Given the description of an element on the screen output the (x, y) to click on. 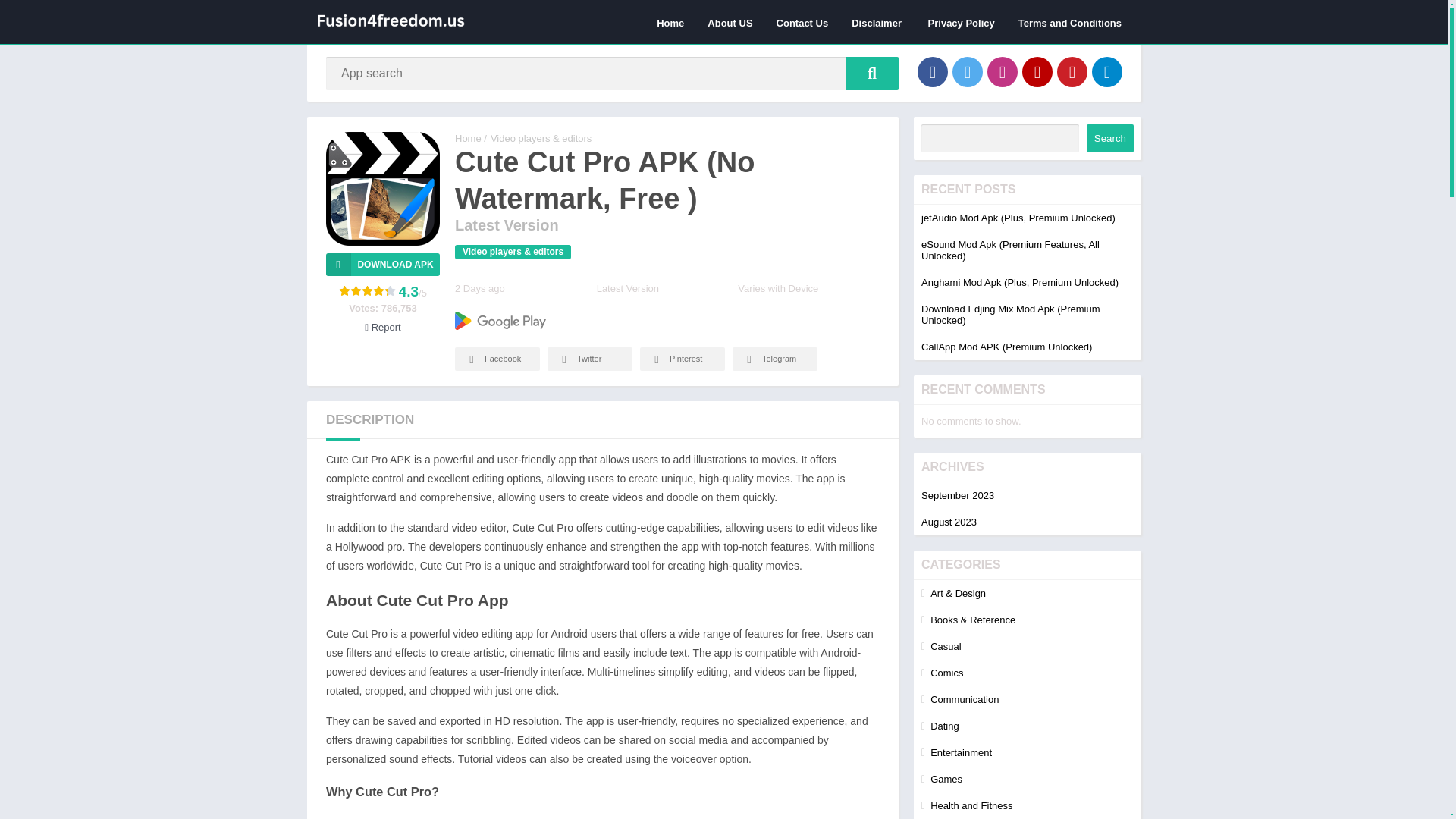
Twitter (589, 359)
Download APK (382, 264)
App search (871, 73)
Home (467, 138)
Home (670, 22)
YouTube (1037, 71)
DOWNLOAD APK (382, 264)
Pinterest (682, 359)
Facebook (932, 71)
Facebook (497, 359)
Instagram (1002, 71)
Disclaimer  (877, 22)
Twitter (967, 71)
Contact Us (802, 22)
Privacy Policy (961, 22)
